Given the description of an element on the screen output the (x, y) to click on. 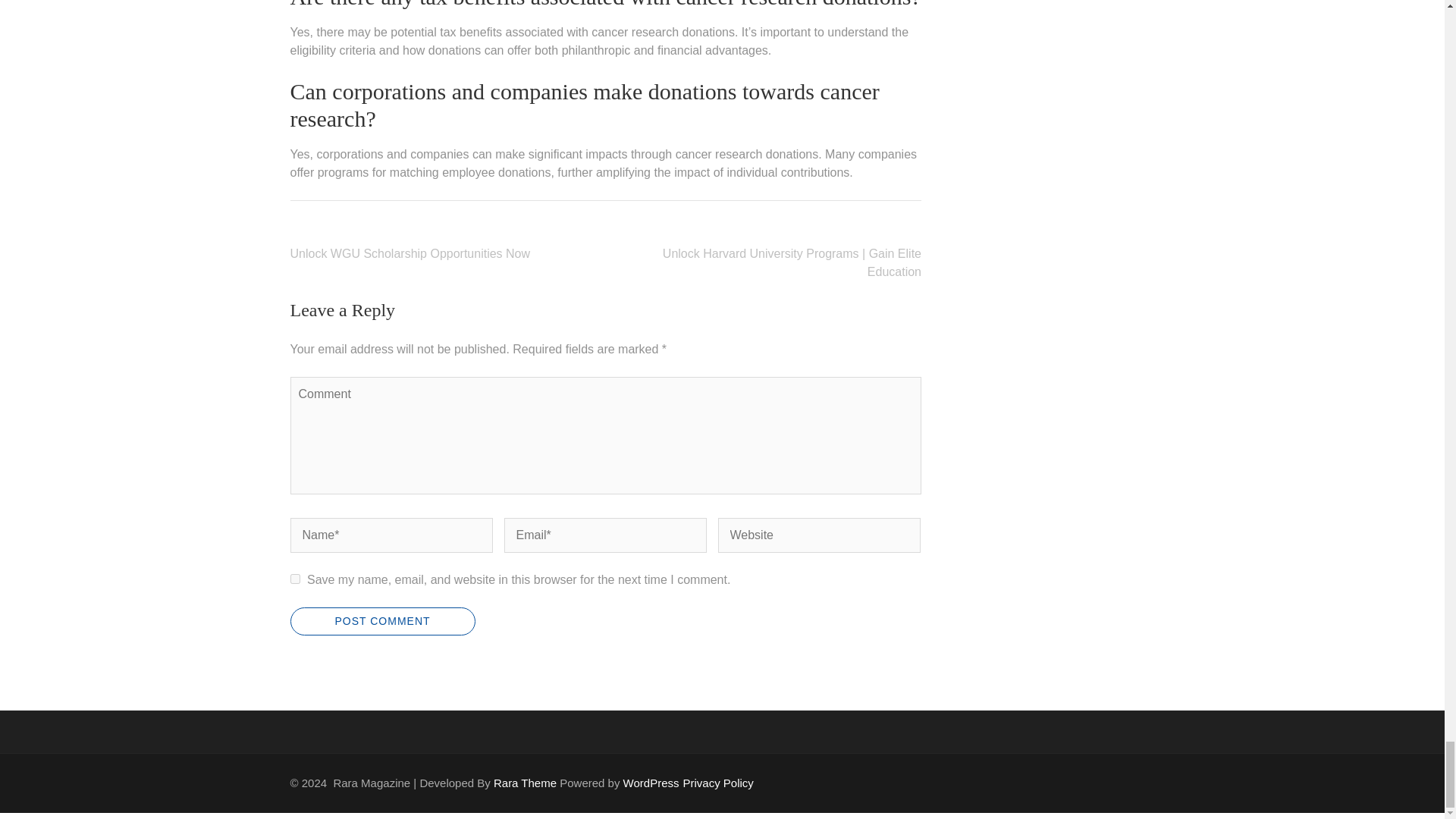
Post Comment (381, 621)
Unlock WGU Scholarship Opportunities Now (409, 253)
yes (294, 578)
Post Comment (381, 621)
